Given the description of an element on the screen output the (x, y) to click on. 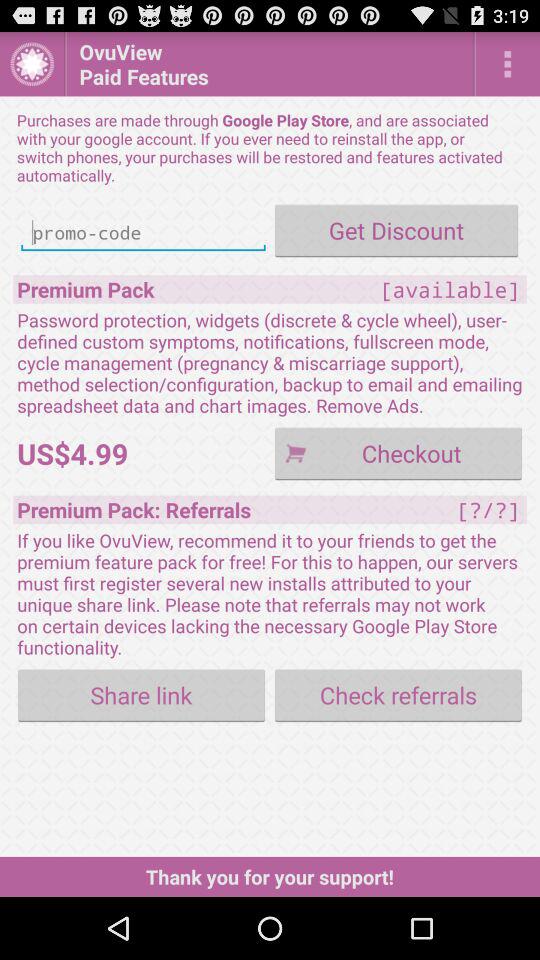
launch the icon below the purchases are made item (396, 229)
